Given the description of an element on the screen output the (x, y) to click on. 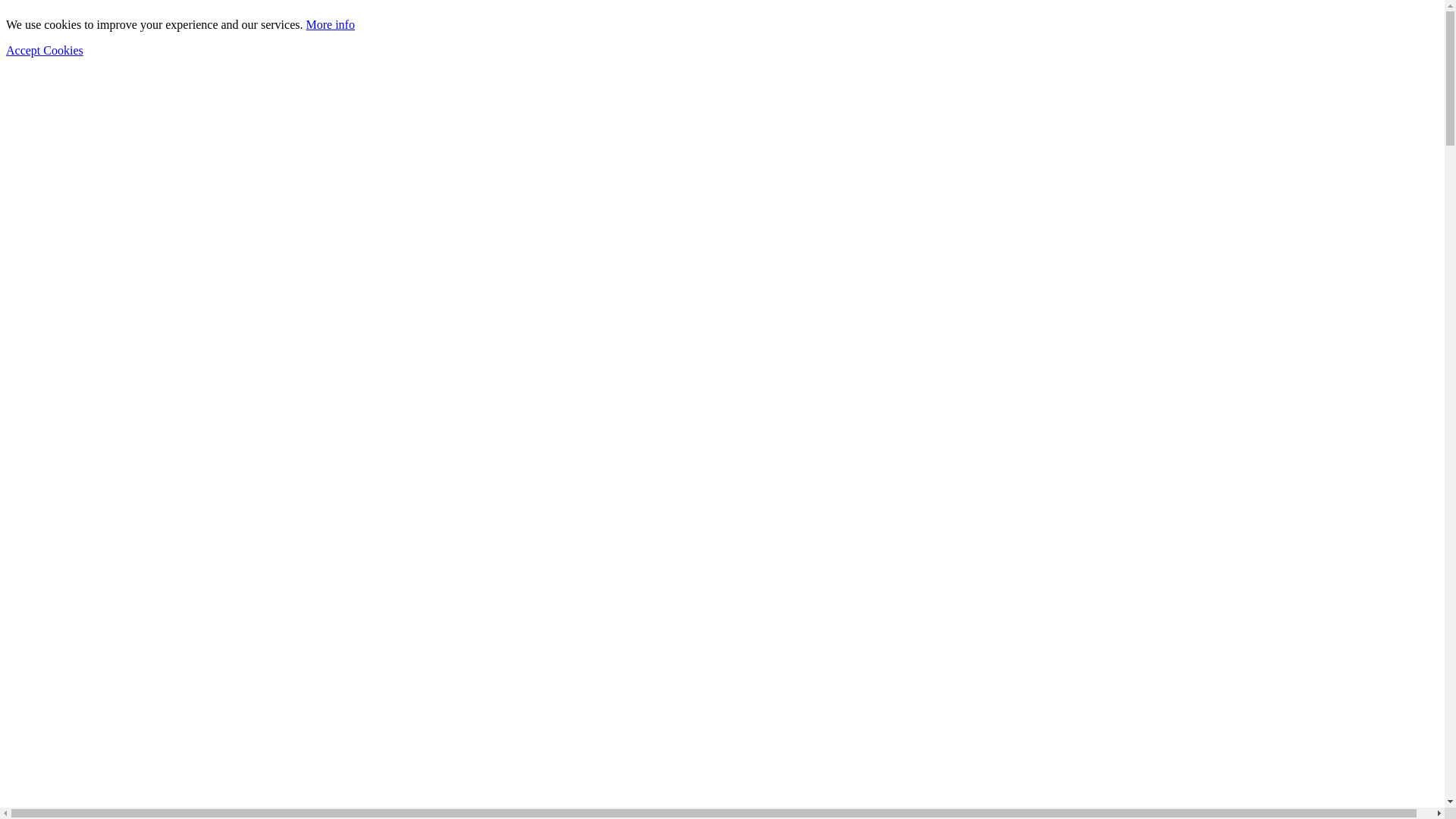
More info Element type: text (329, 24)
Accept Cookies Element type: text (44, 49)
